Given the description of an element on the screen output the (x, y) to click on. 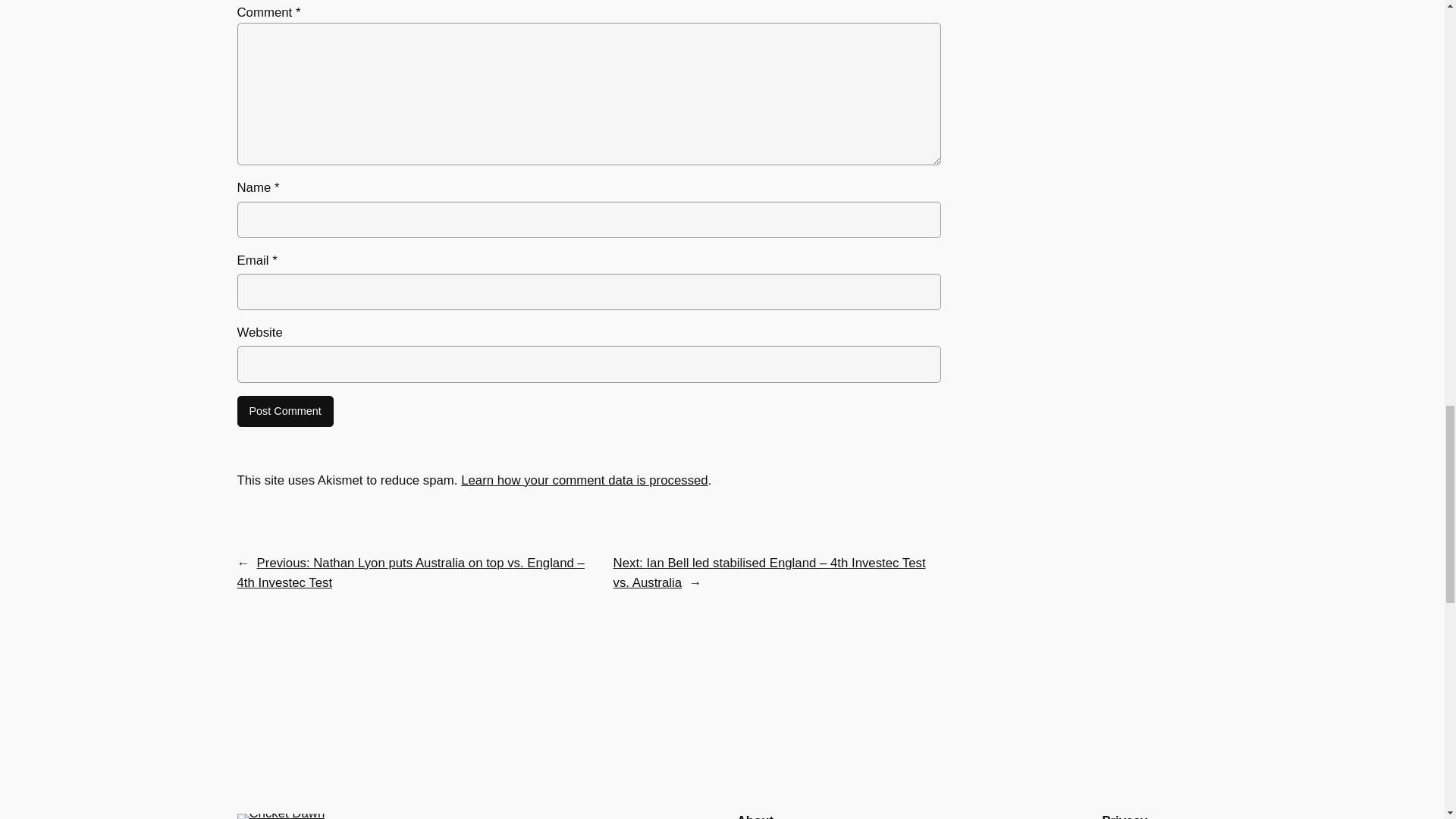
Learn how your comment data is processed (584, 480)
Post Comment (284, 411)
Post Comment (284, 411)
